Given the description of an element on the screen output the (x, y) to click on. 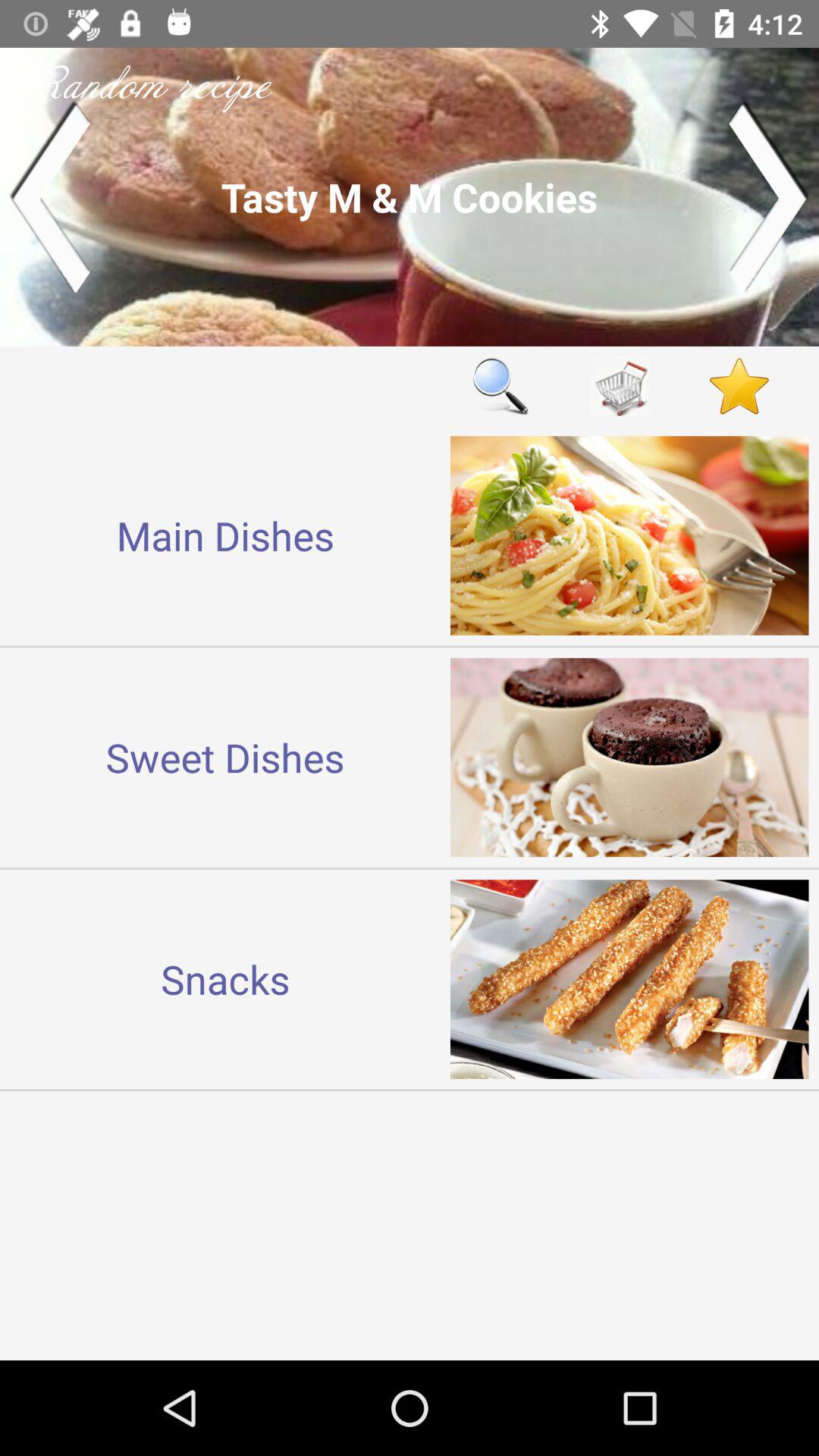
next recipe (769, 196)
